Given the description of an element on the screen output the (x, y) to click on. 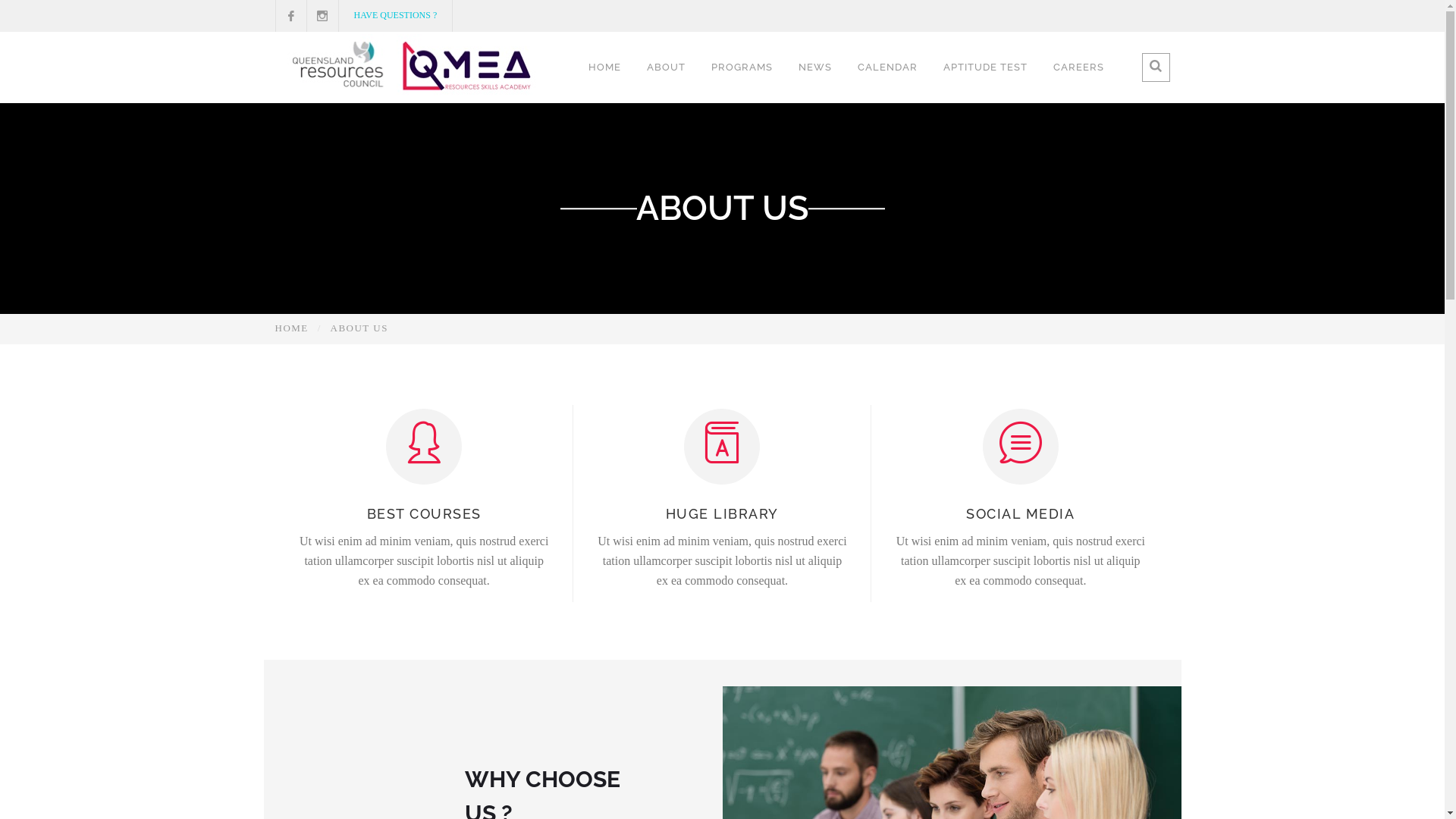
APTITUDE TEST Element type: text (985, 67)
CAREERS Element type: text (1078, 67)
NEWS Element type: text (814, 67)
HOME Element type: text (604, 67)
CALENDAR Element type: text (887, 67)
PROGRAMS Element type: text (741, 67)
ABOUT Element type: text (665, 67)
HOME Element type: text (290, 327)
HAVE QUESTIONS ? Element type: text (394, 14)
